Given the description of an element on the screen output the (x, y) to click on. 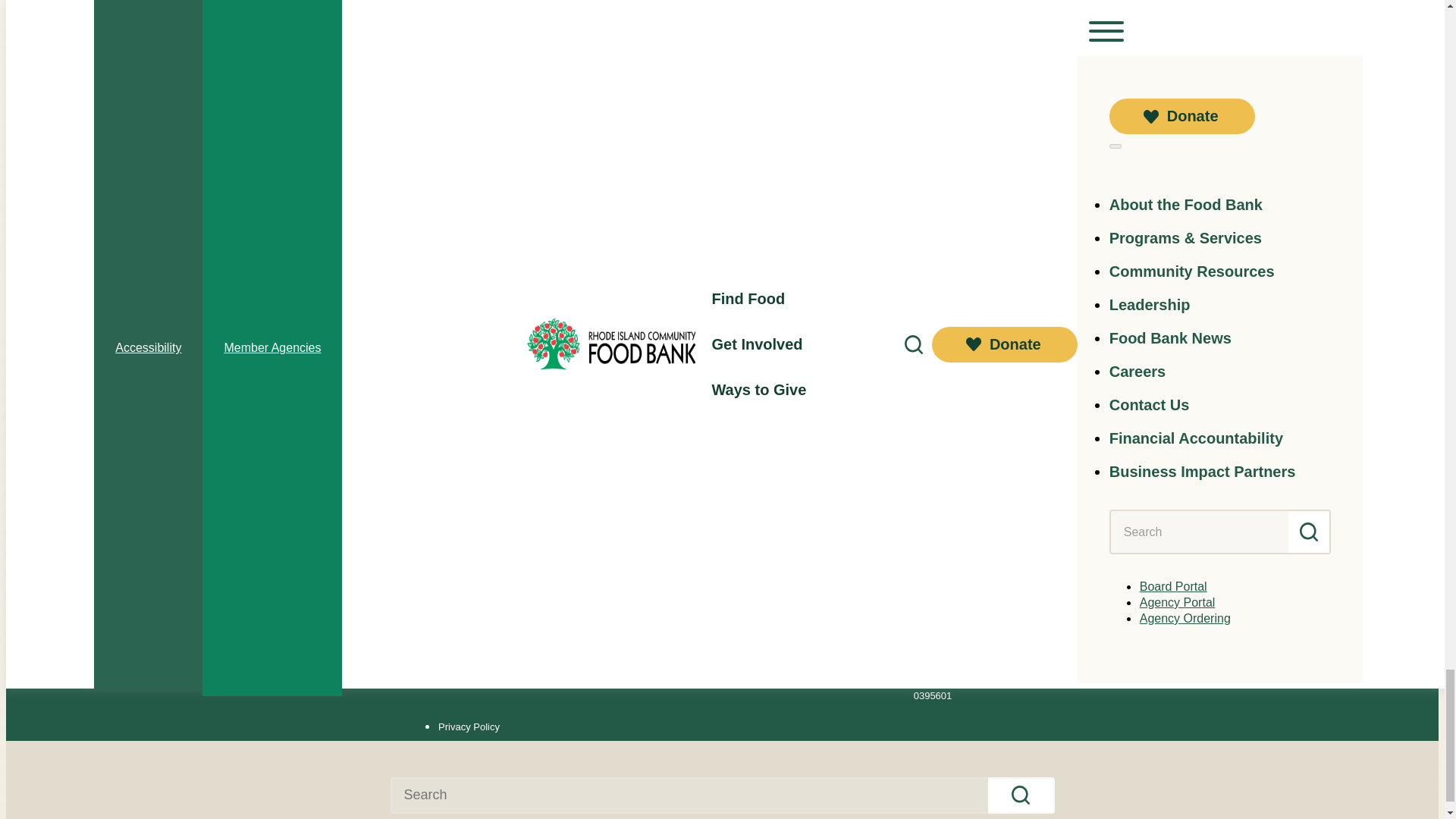
Search (1021, 795)
Search (1021, 795)
